Given the description of an element on the screen output the (x, y) to click on. 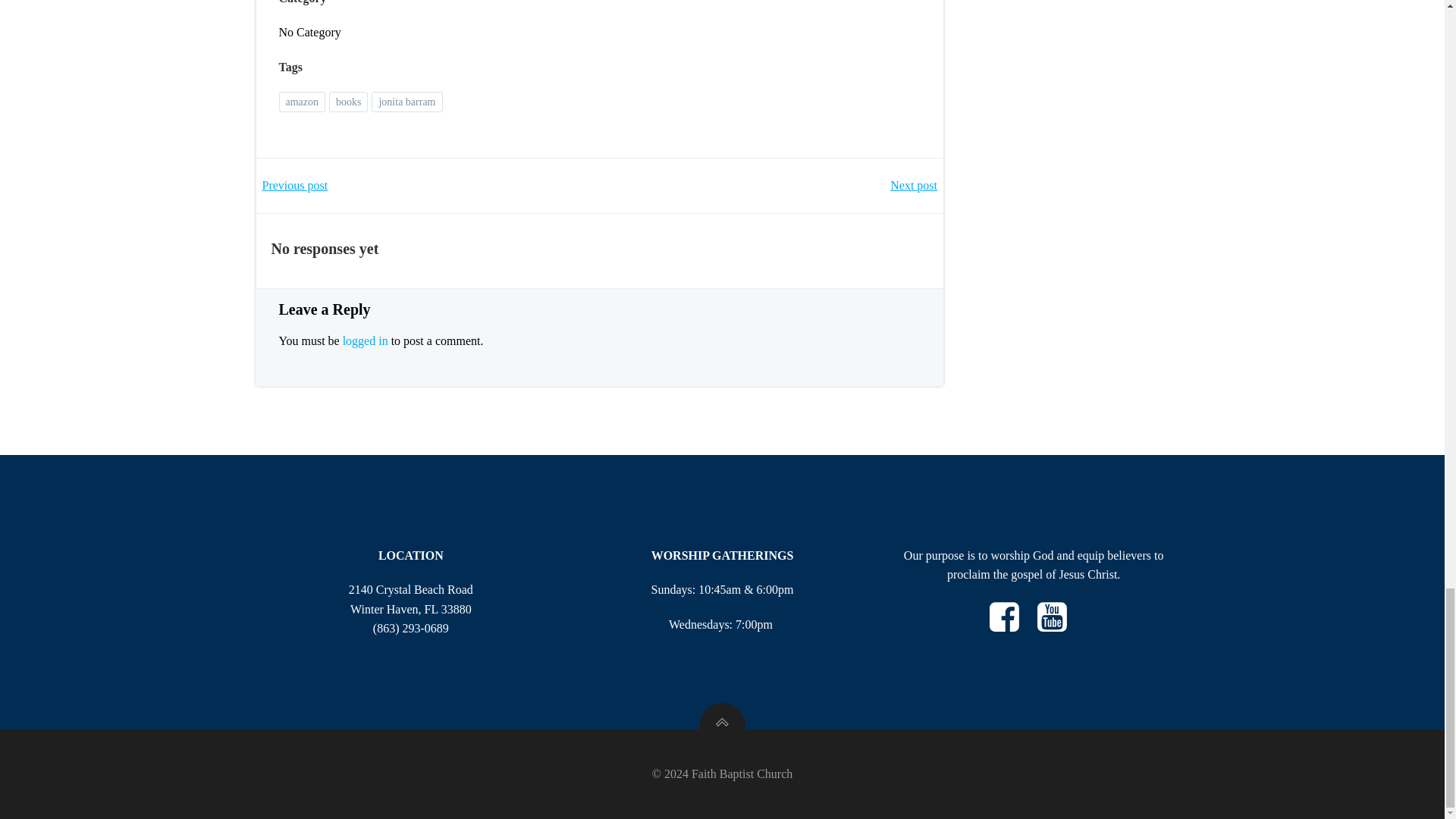
books Tag (348, 101)
amazon Tag (302, 101)
jonita barram Tag (406, 101)
